Given the description of an element on the screen output the (x, y) to click on. 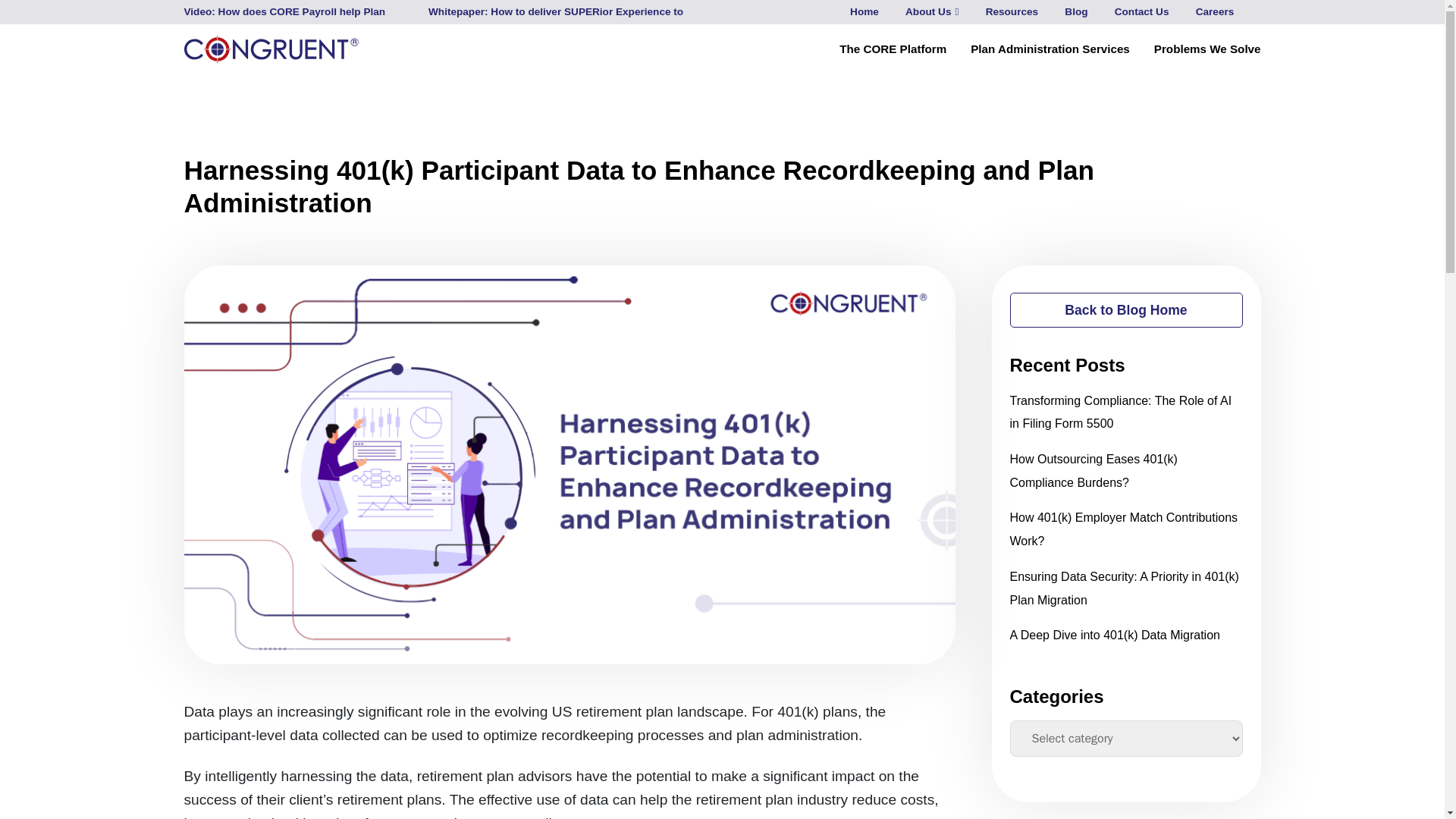
Plan Administration Services (1050, 48)
Transforming Compliance: The Role of AI in Filing Form 5500 (1120, 411)
Contact Us (1142, 12)
Search efter: (1254, 11)
Problems We Solve (1207, 48)
The CORE Platform (893, 48)
Back to Blog Home (1126, 309)
Home (864, 12)
Resources (1012, 12)
